Given the description of an element on the screen output the (x, y) to click on. 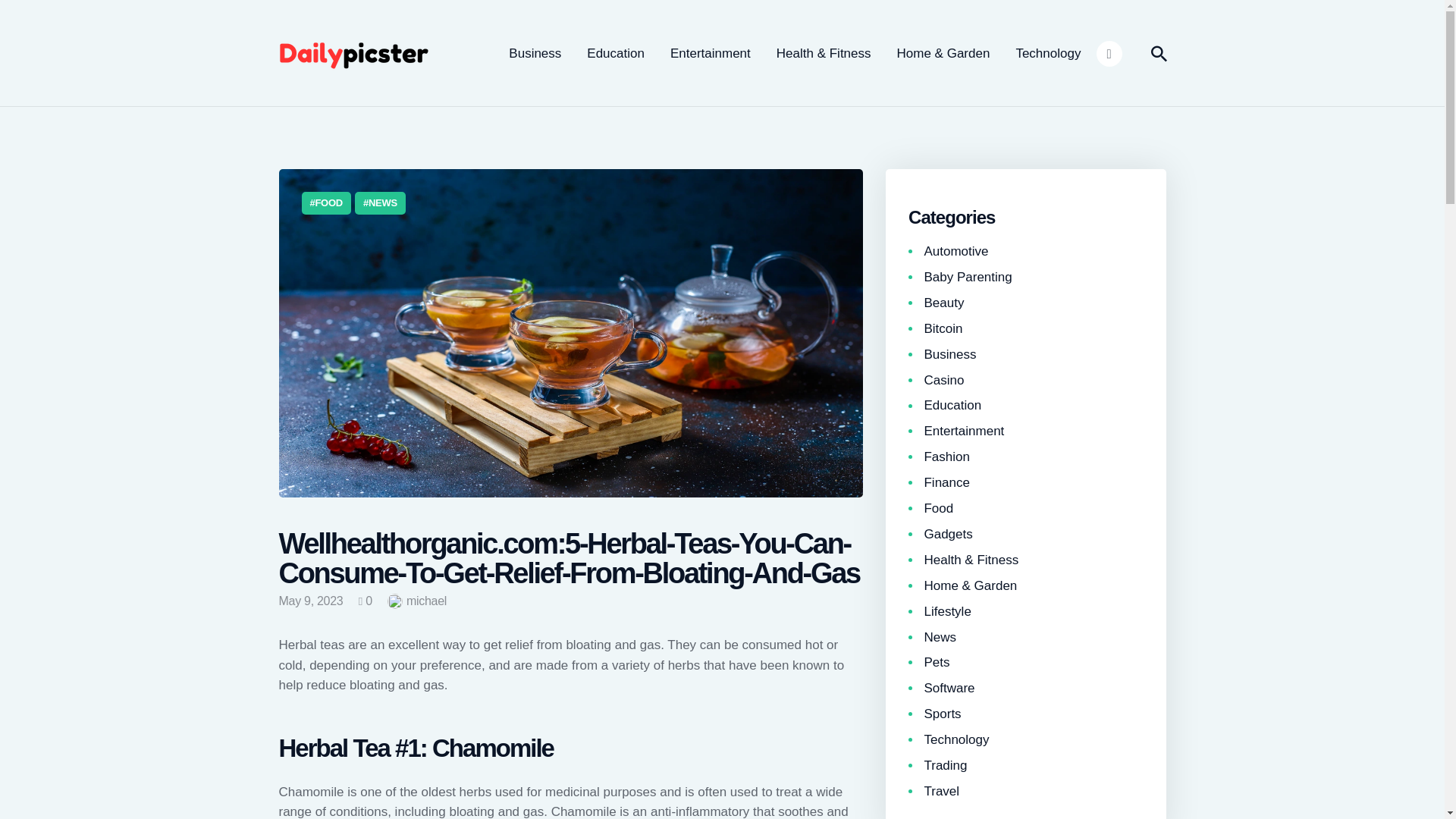
Technology (1048, 53)
Entertainment (710, 53)
Business (534, 53)
Education (615, 53)
